Given the description of an element on the screen output the (x, y) to click on. 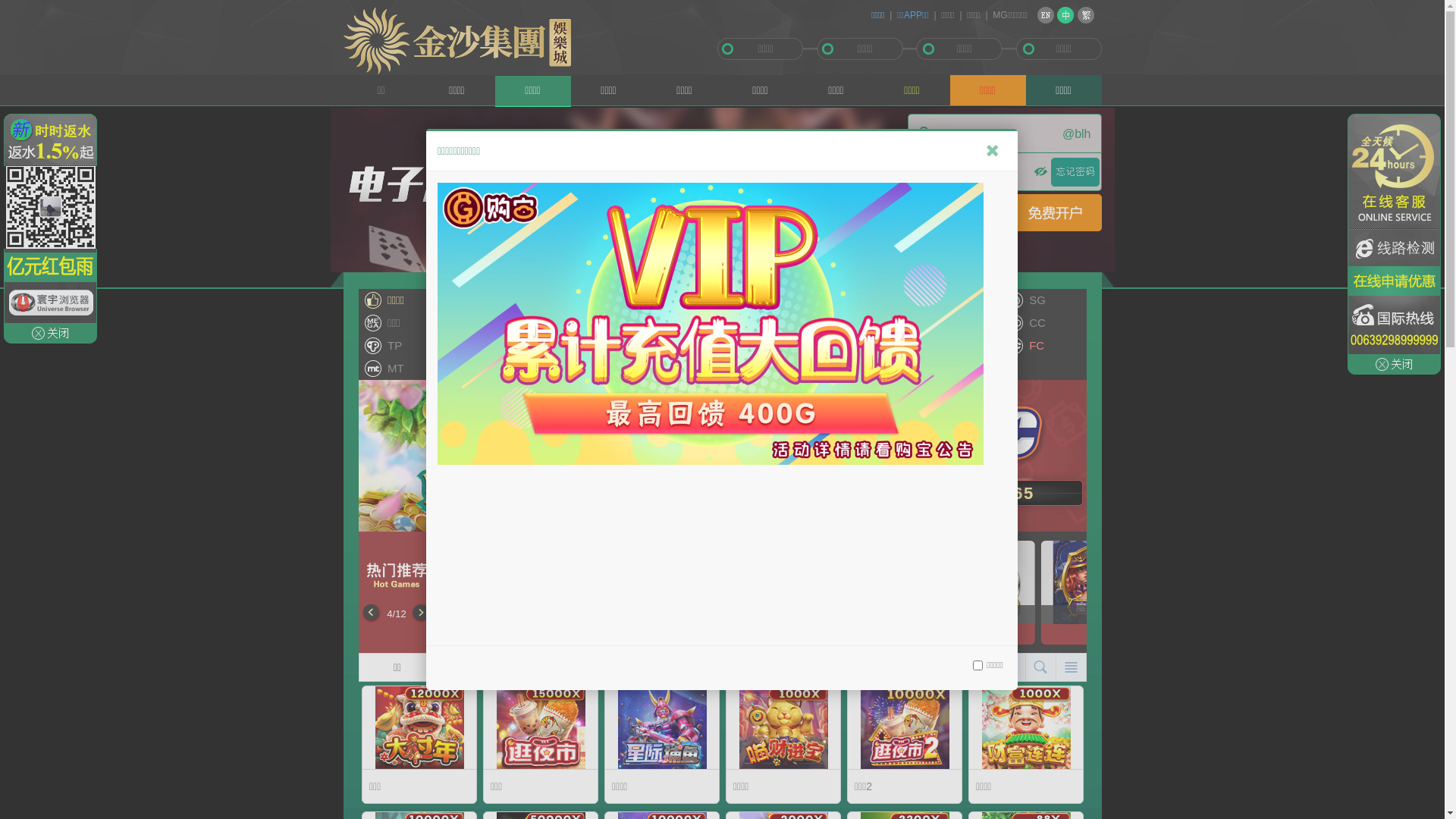
English Element type: hover (1045, 14)
